Given the description of an element on the screen output the (x, y) to click on. 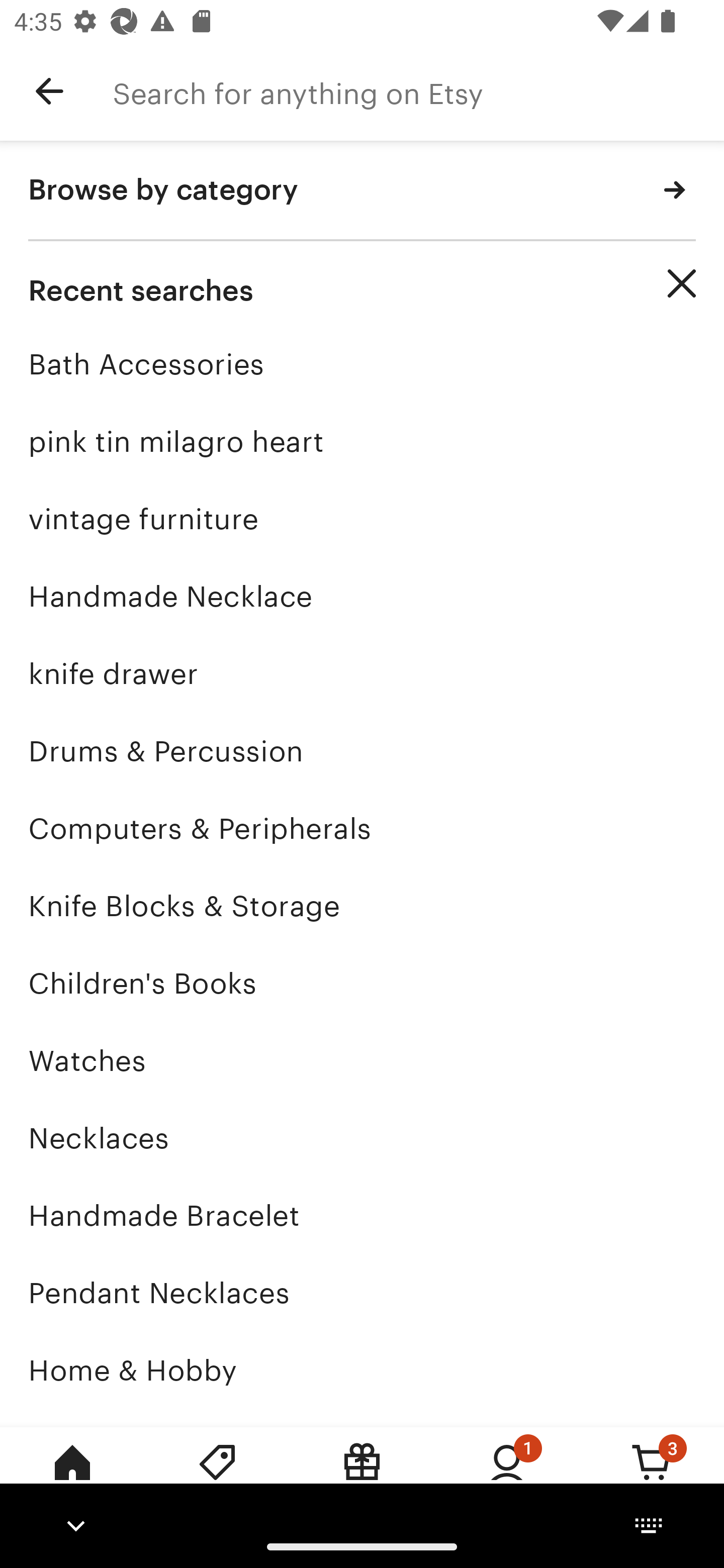
Navigate up (49, 91)
Search for anything on Etsy (418, 91)
Browse by category (362, 191)
Clear (681, 283)
Bath Accessories (362, 364)
pink tin milagro heart (362, 440)
vintage furniture (362, 518)
Handmade Necklace (362, 596)
knife drawer (362, 673)
Drums & Percussion (362, 750)
Computers & Peripherals (362, 828)
Knife Blocks & Storage (362, 906)
Children's Books (362, 983)
Watches (362, 1060)
Necklaces (362, 1138)
Handmade Bracelet (362, 1215)
Pendant Necklaces (362, 1292)
Home & Hobby (362, 1370)
Deals (216, 1475)
Gift Mode (361, 1475)
You, 1 new notification (506, 1475)
Cart, 3 new notifications (651, 1475)
